Given the description of an element on the screen output the (x, y) to click on. 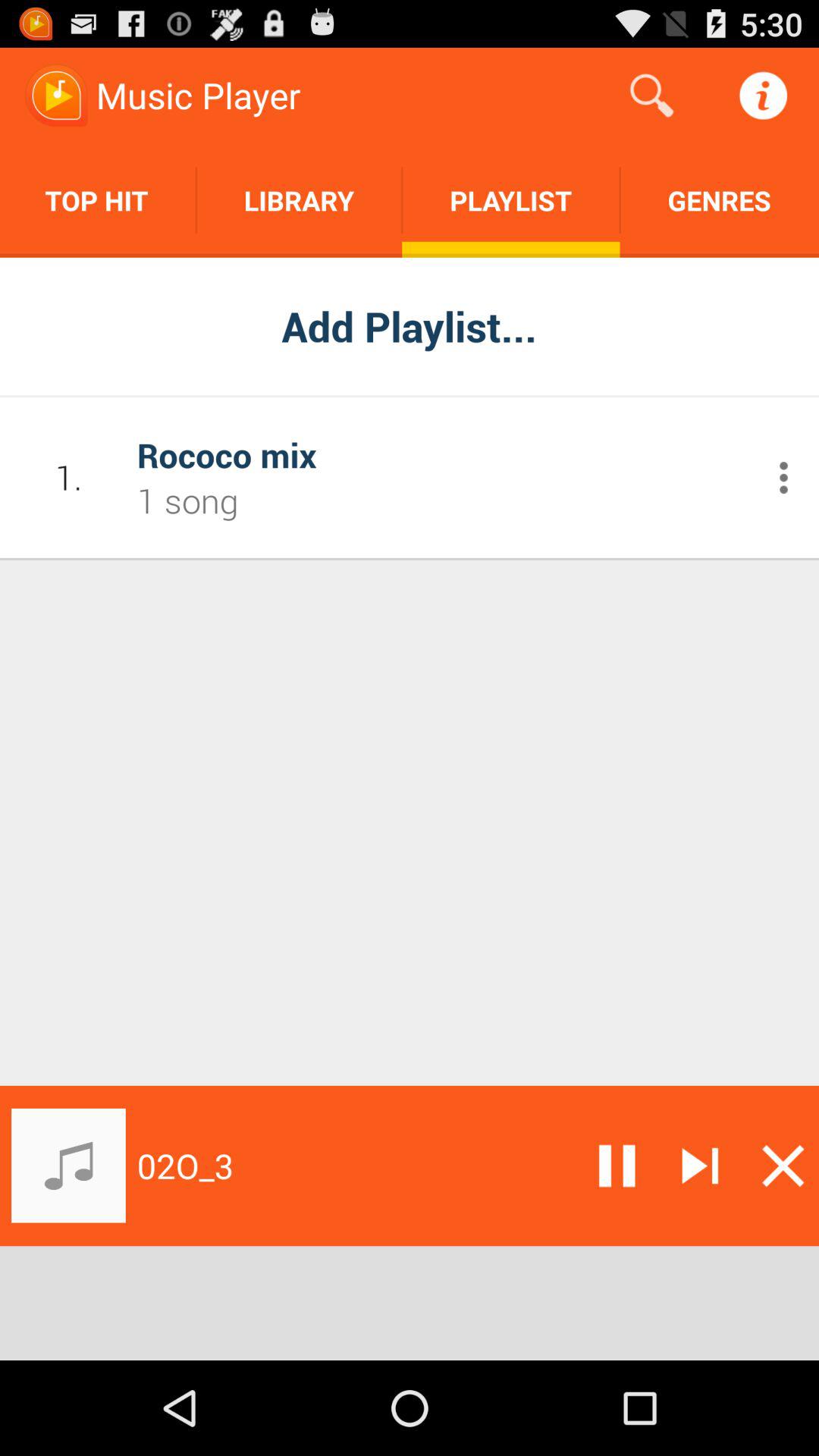
skip song (699, 1165)
